Given the description of an element on the screen output the (x, y) to click on. 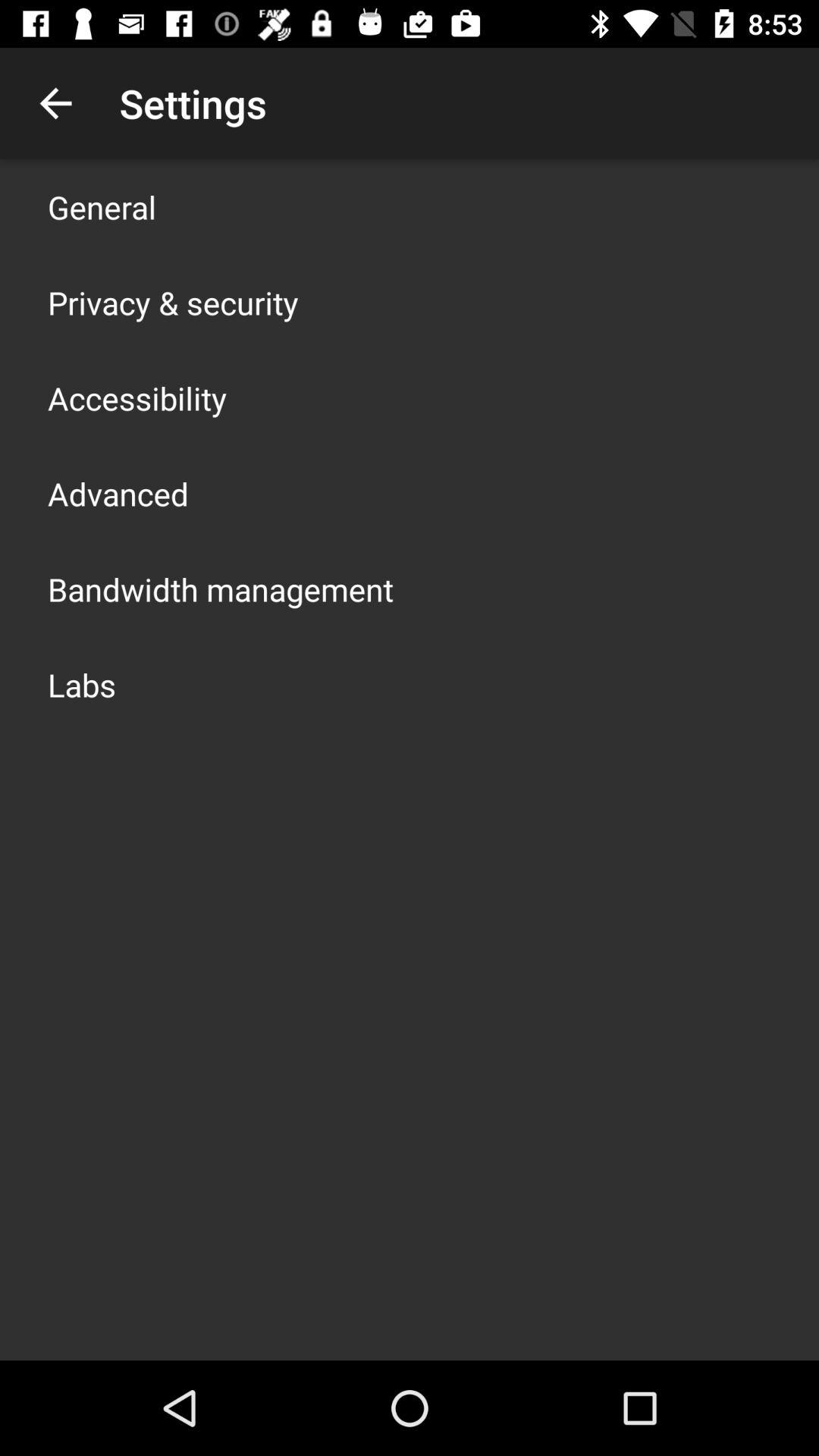
launch the labs (81, 684)
